Given the description of an element on the screen output the (x, y) to click on. 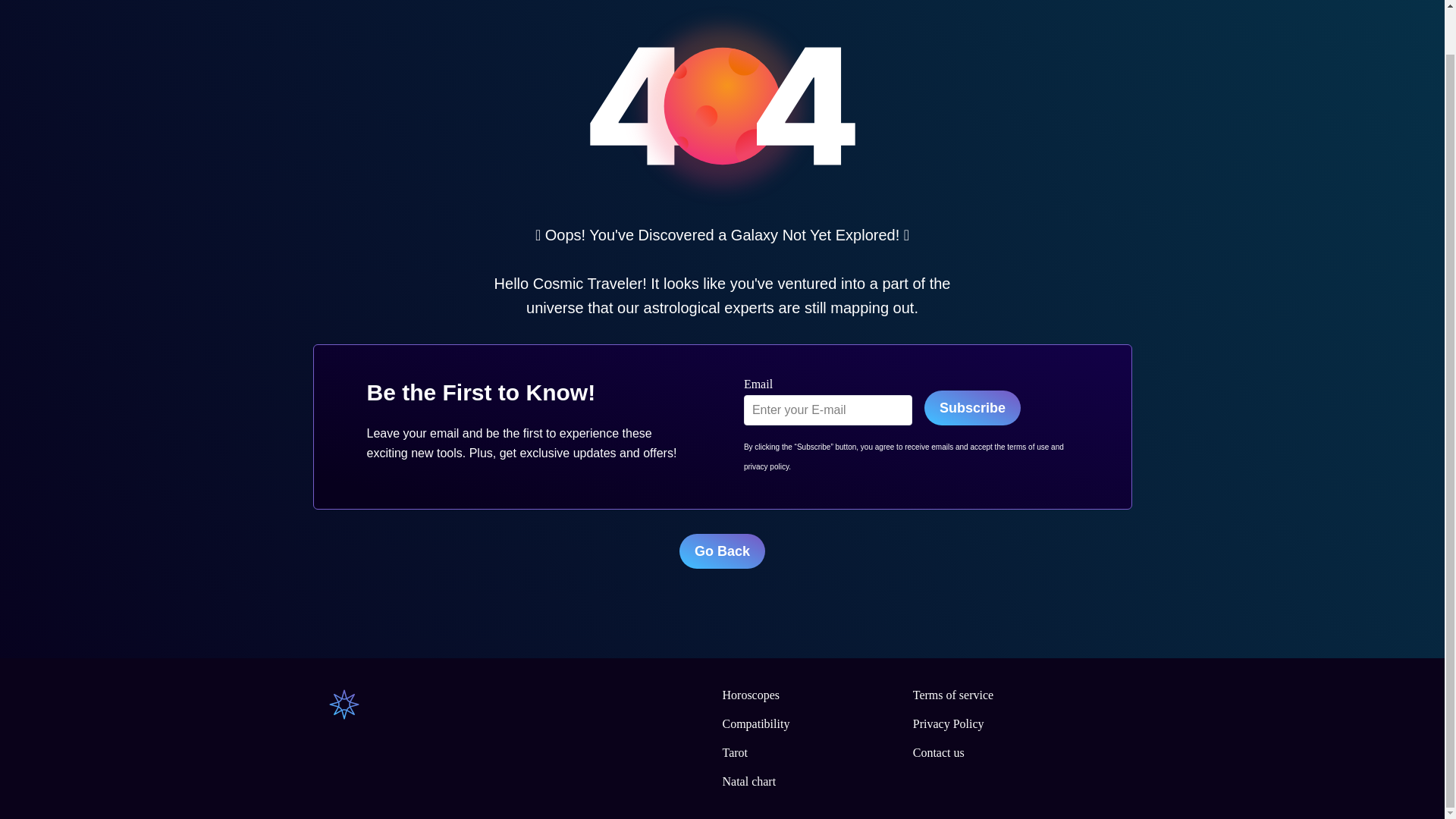
Compatibility (755, 723)
Privacy Policy (948, 723)
Natal chart (749, 780)
Go Back (722, 550)
Tarot (735, 752)
Contact us (937, 752)
Horoscopes (750, 694)
Subscribe (972, 407)
Terms of service (952, 694)
